Given the description of an element on the screen output the (x, y) to click on. 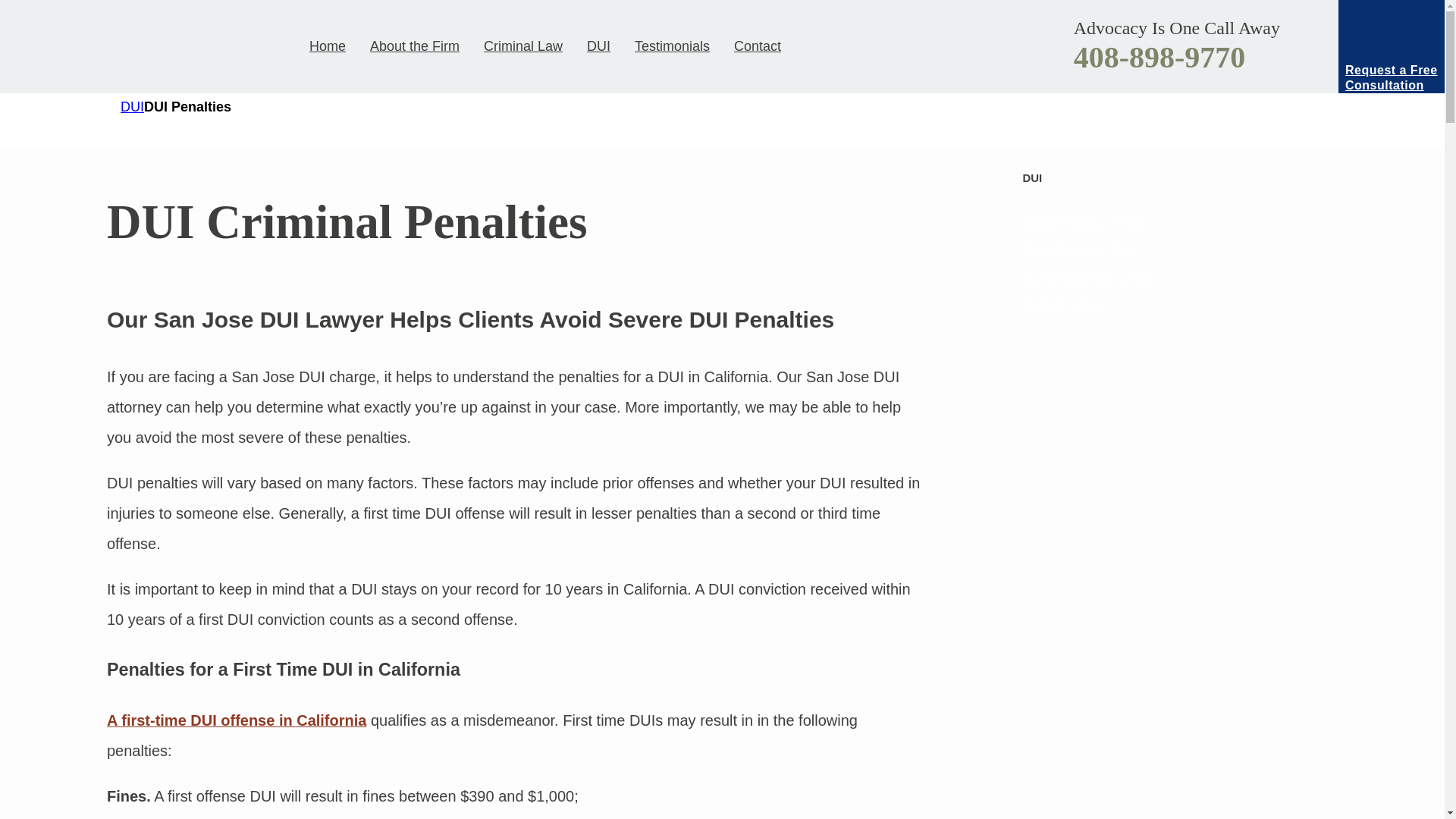
Contact (751, 46)
Testimonials (672, 46)
Open the accessibility options menu (1412, 786)
Criminal Law (523, 46)
About the Firm (414, 46)
408-898-9770 (1160, 57)
